Given the description of an element on the screen output the (x, y) to click on. 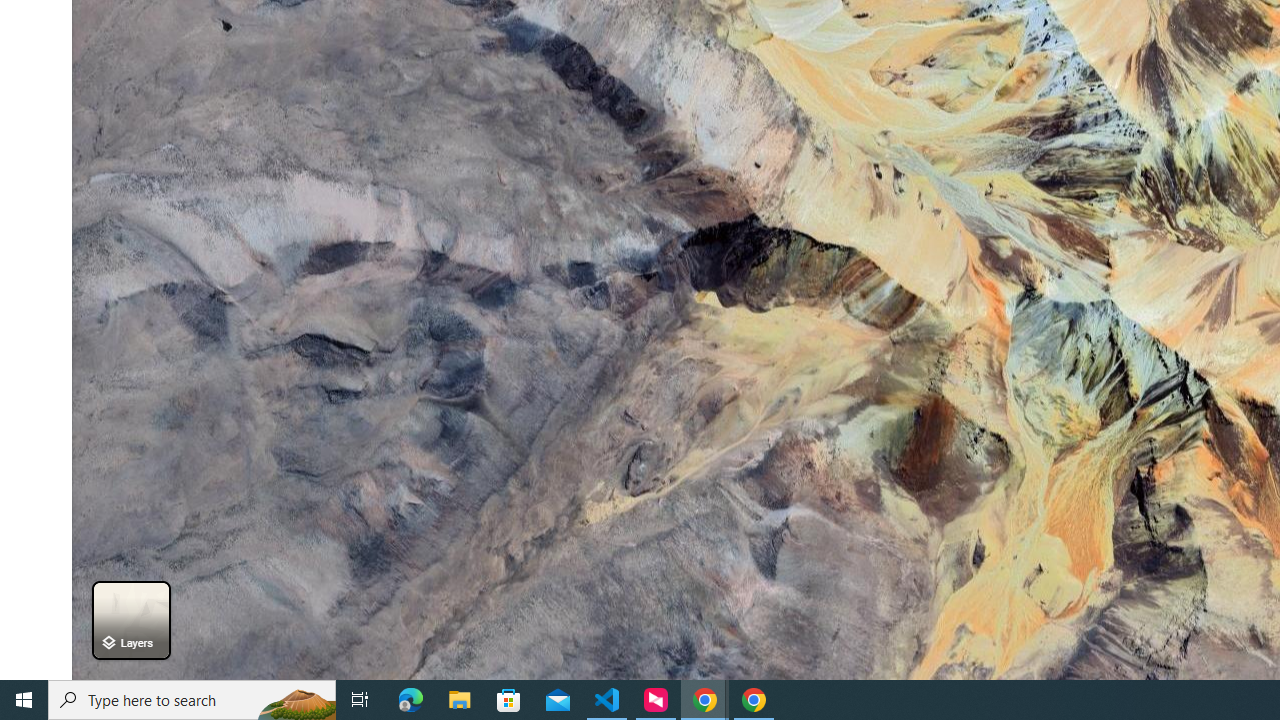
Layers (130, 620)
